Given the description of an element on the screen output the (x, y) to click on. 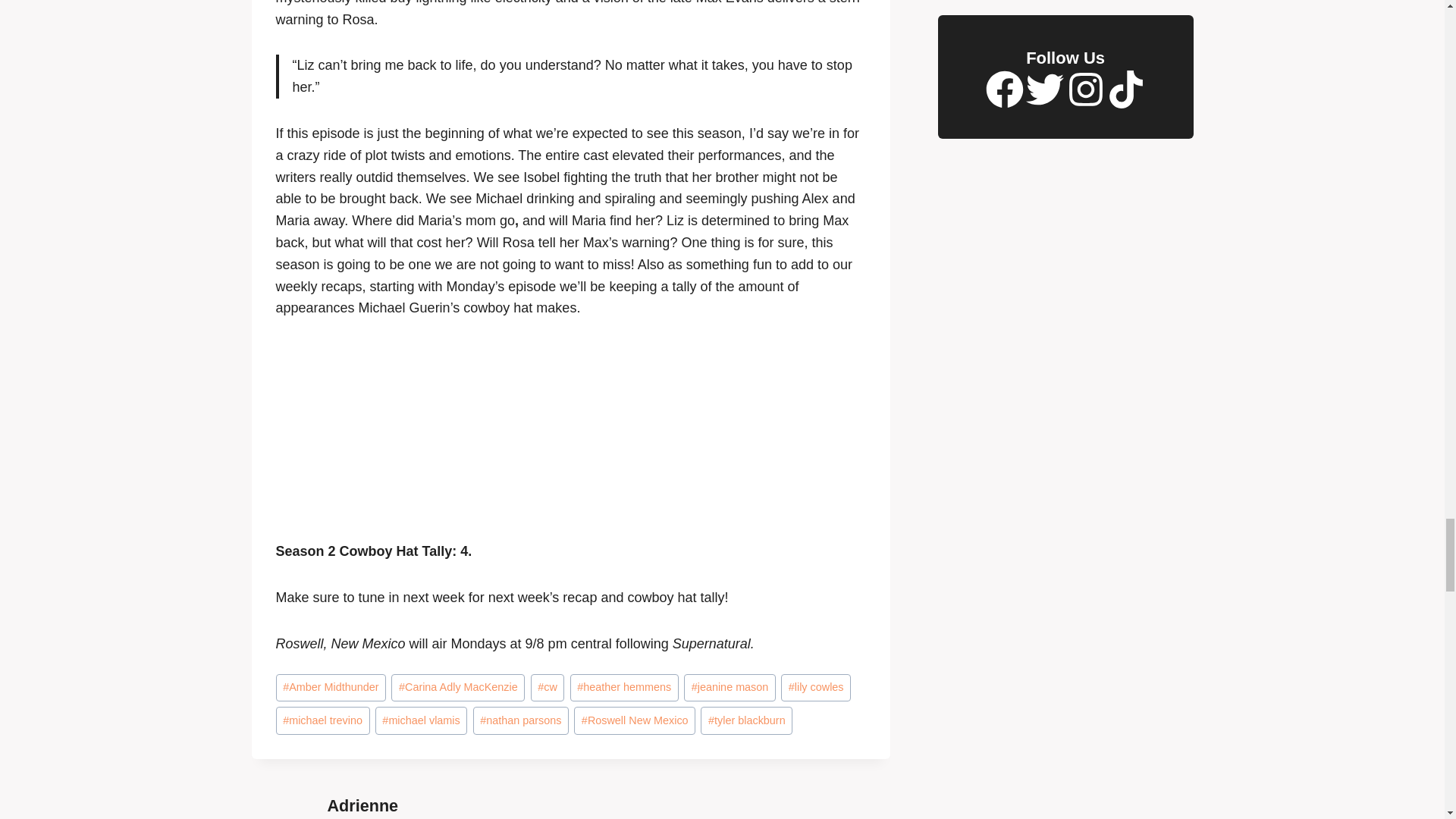
Amber Midthunder (331, 687)
jeanine mason (730, 687)
heather hemmens (624, 687)
michael vlamis (421, 720)
tyler blackburn (746, 720)
cw (547, 687)
Roswell New Mexico (634, 720)
Posts by Adrienne (362, 805)
nathan parsons (521, 720)
lily cowles (815, 687)
